Given the description of an element on the screen output the (x, y) to click on. 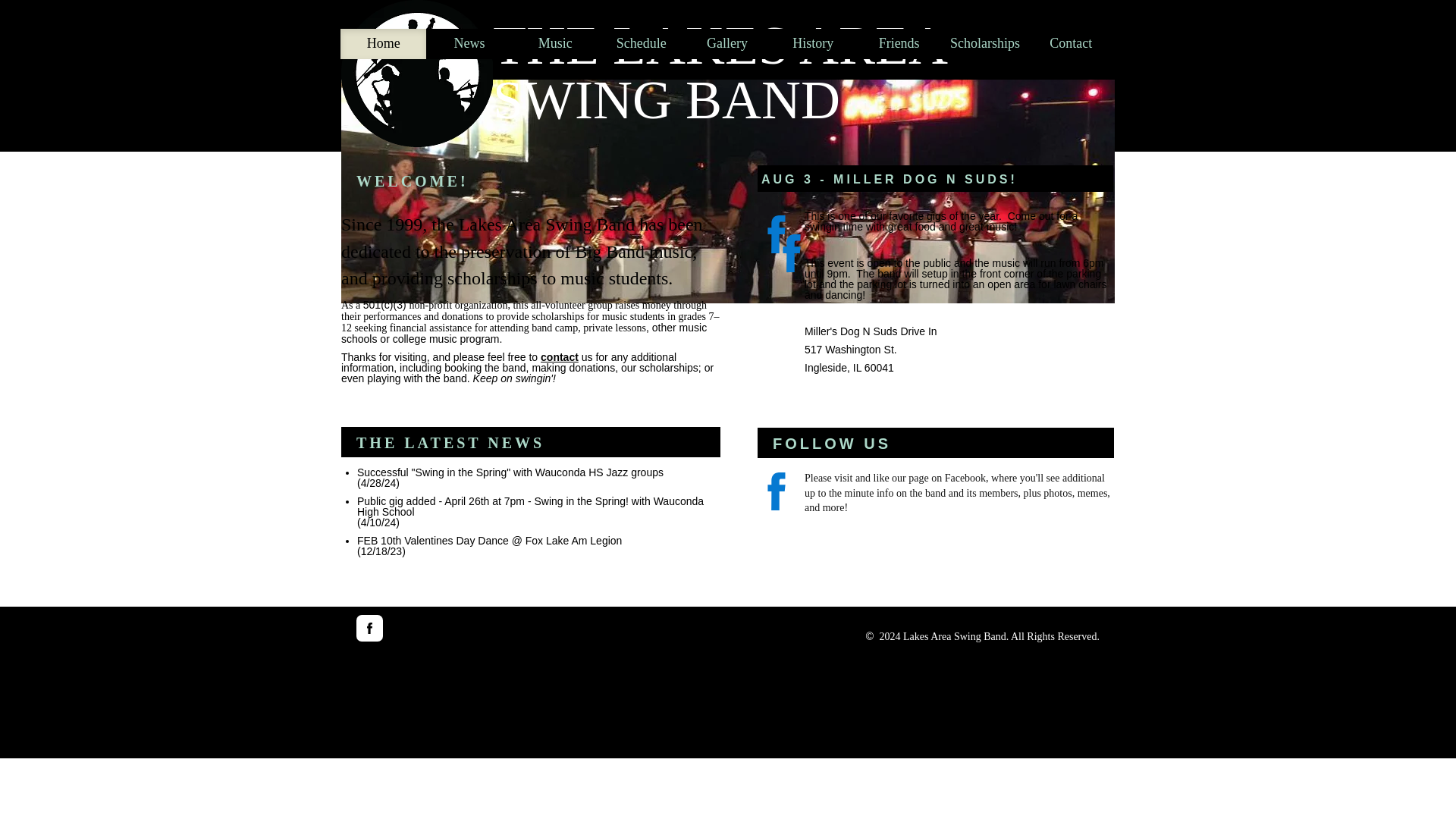
Friends (899, 43)
Scholarships (984, 43)
Home (383, 43)
contact (559, 357)
News (469, 43)
Gallery (727, 43)
Schedule (641, 43)
History (813, 43)
